Given the description of an element on the screen output the (x, y) to click on. 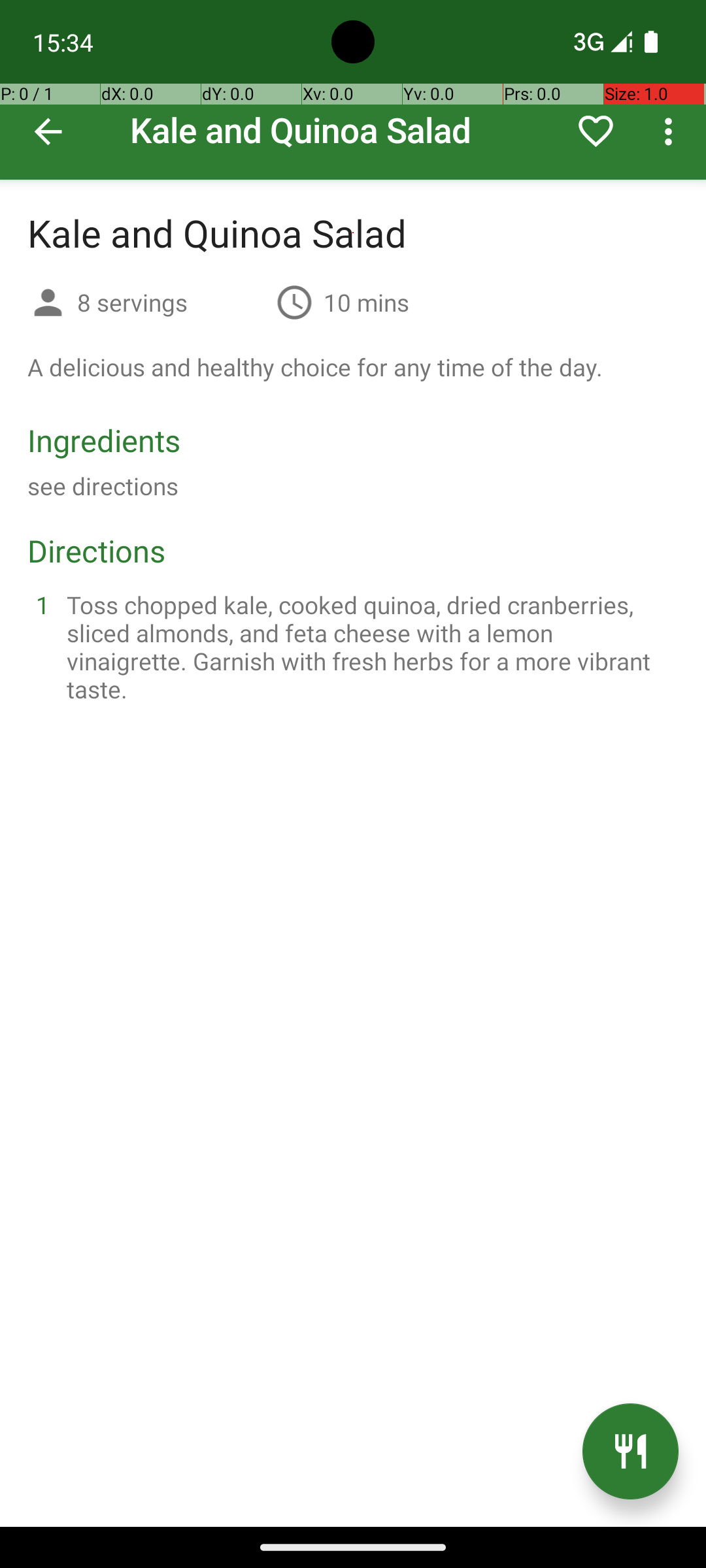
Toss chopped kale, cooked quinoa, dried cranberries, sliced almonds, and feta cheese with a lemon vinaigrette. Garnish with fresh herbs for a more vibrant taste. Element type: android.widget.TextView (368, 646)
